Given the description of an element on the screen output the (x, y) to click on. 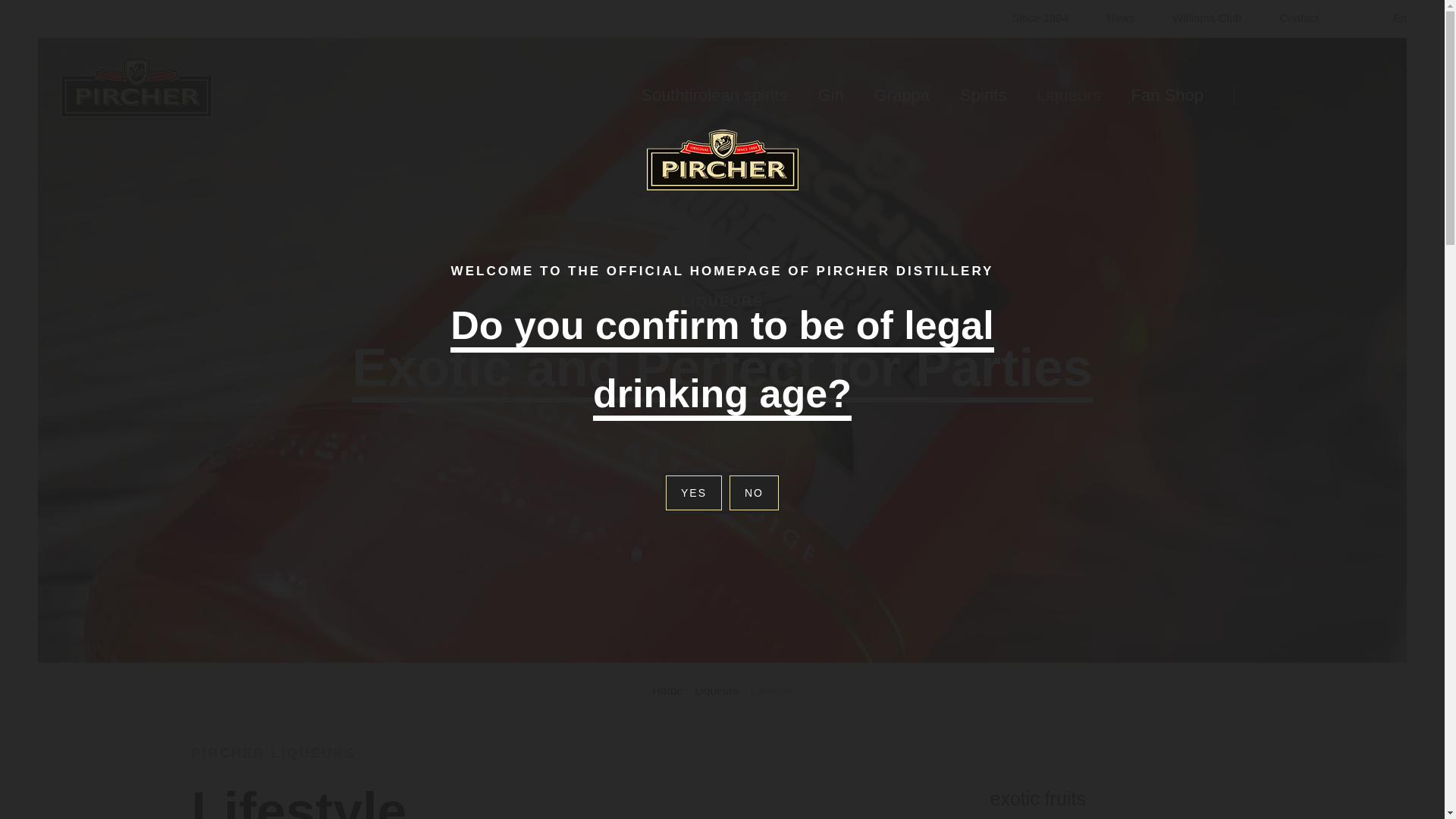
Williams Club (1207, 17)
Williams Club (1207, 17)
Liqueurs (716, 690)
Since 1884 (1039, 17)
Contact (1299, 17)
Southtirolean spirits (713, 104)
Product list (1167, 104)
Fan Shop (1167, 104)
Liqueurs (1409, 153)
Fruity liqueurs - (1068, 104)
News (1120, 17)
Grappa (902, 104)
Traditional Grappa - (902, 104)
Contact (1299, 17)
Home (667, 690)
